Given the description of an element on the screen output the (x, y) to click on. 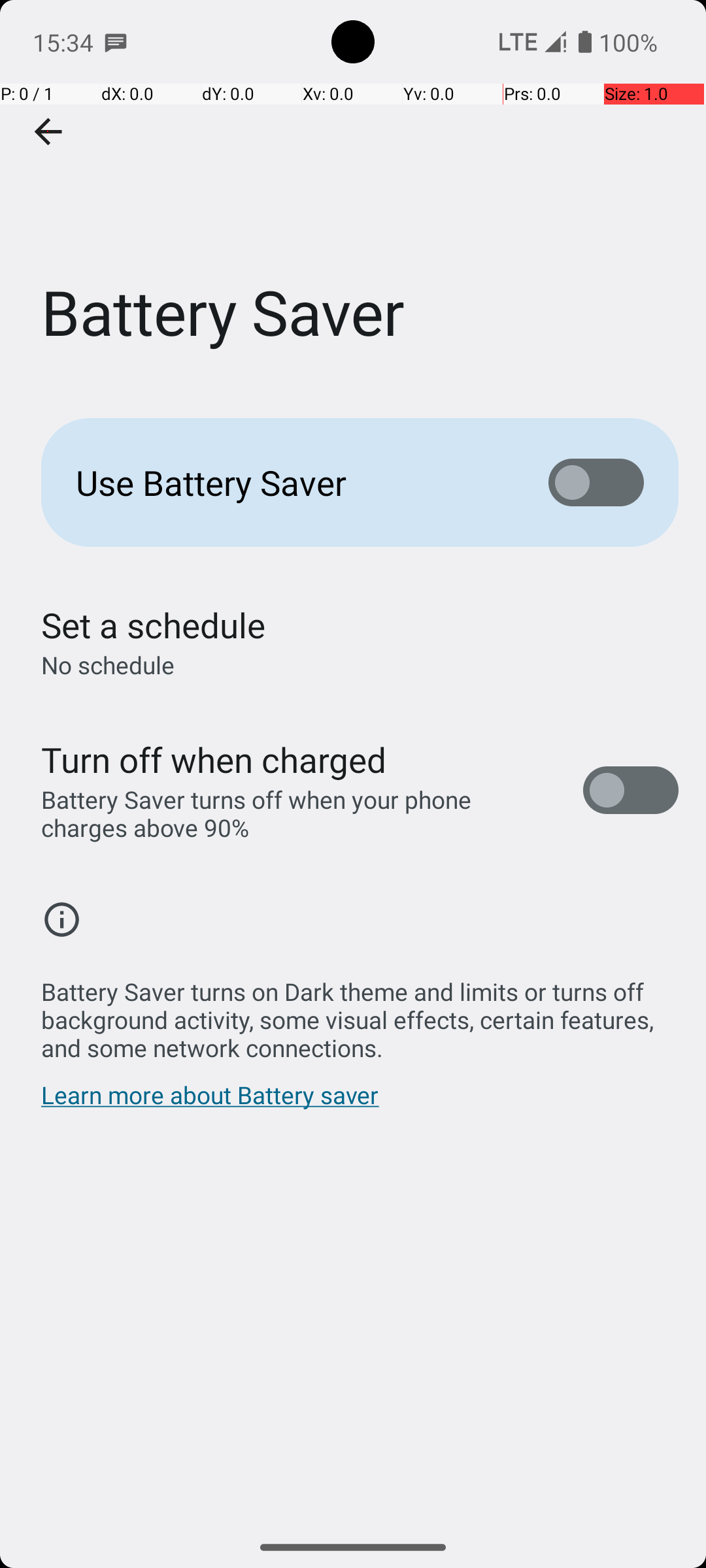
Use Battery Saver Element type: android.widget.TextView (291, 482)
Set a schedule Element type: android.widget.TextView (153, 624)
No schedule Element type: android.widget.TextView (107, 664)
Turn off when charged Element type: android.widget.TextView (213, 759)
Battery Saver turns off when your phone charges above 90% Element type: android.widget.TextView (298, 813)
Battery Saver turns on Dark theme and limits or turns off background activity, some visual effects, certain features, and some network connections. Element type: android.widget.TextView (359, 1012)
Learn more about Battery saver Element type: android.widget.TextView (210, 1101)
SMS Messenger notification: Juan Alves Element type: android.widget.ImageView (115, 41)
